Given the description of an element on the screen output the (x, y) to click on. 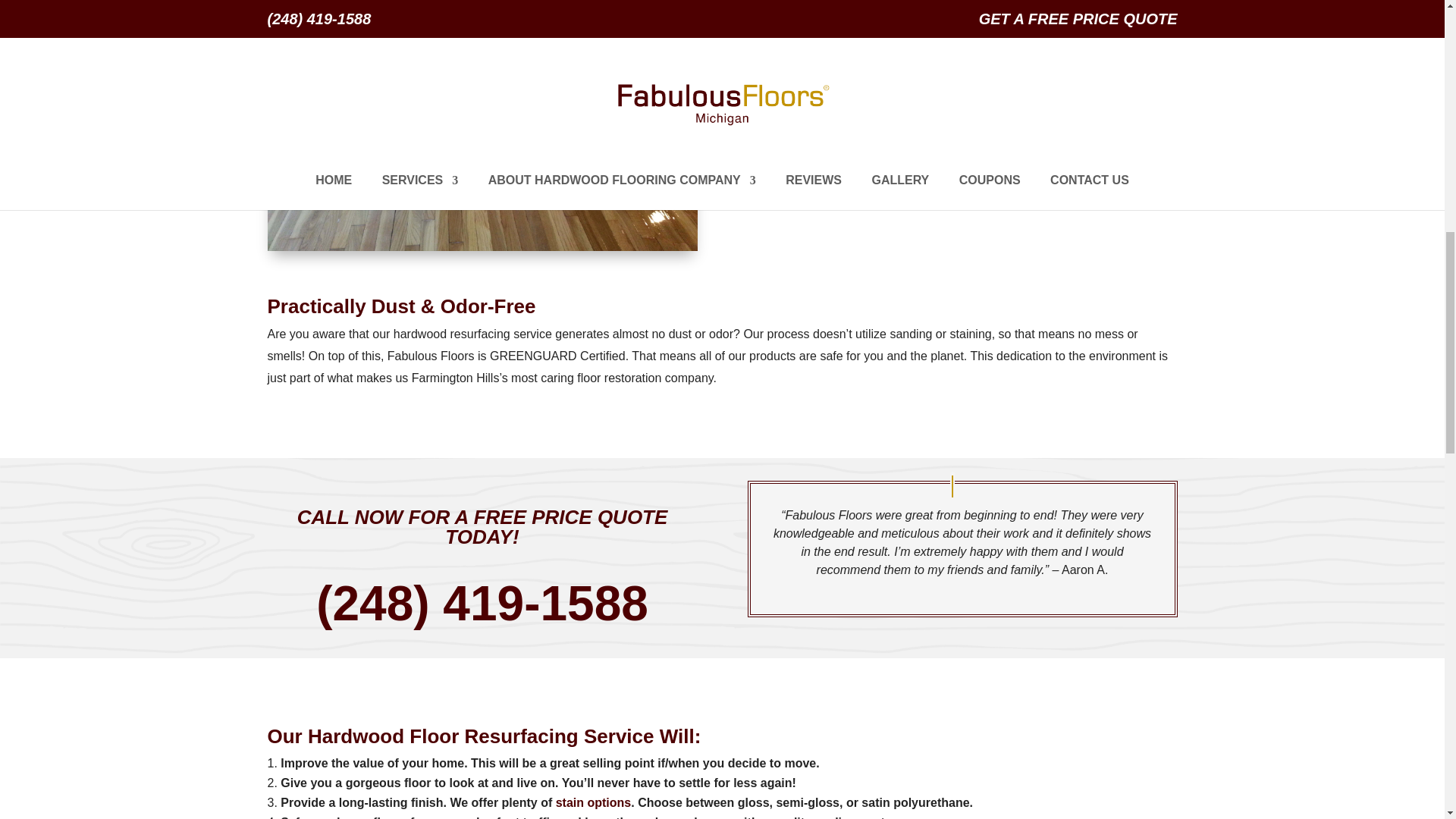
stain options (590, 802)
hardwood refinishing (939, 7)
